Given the description of an element on the screen output the (x, y) to click on. 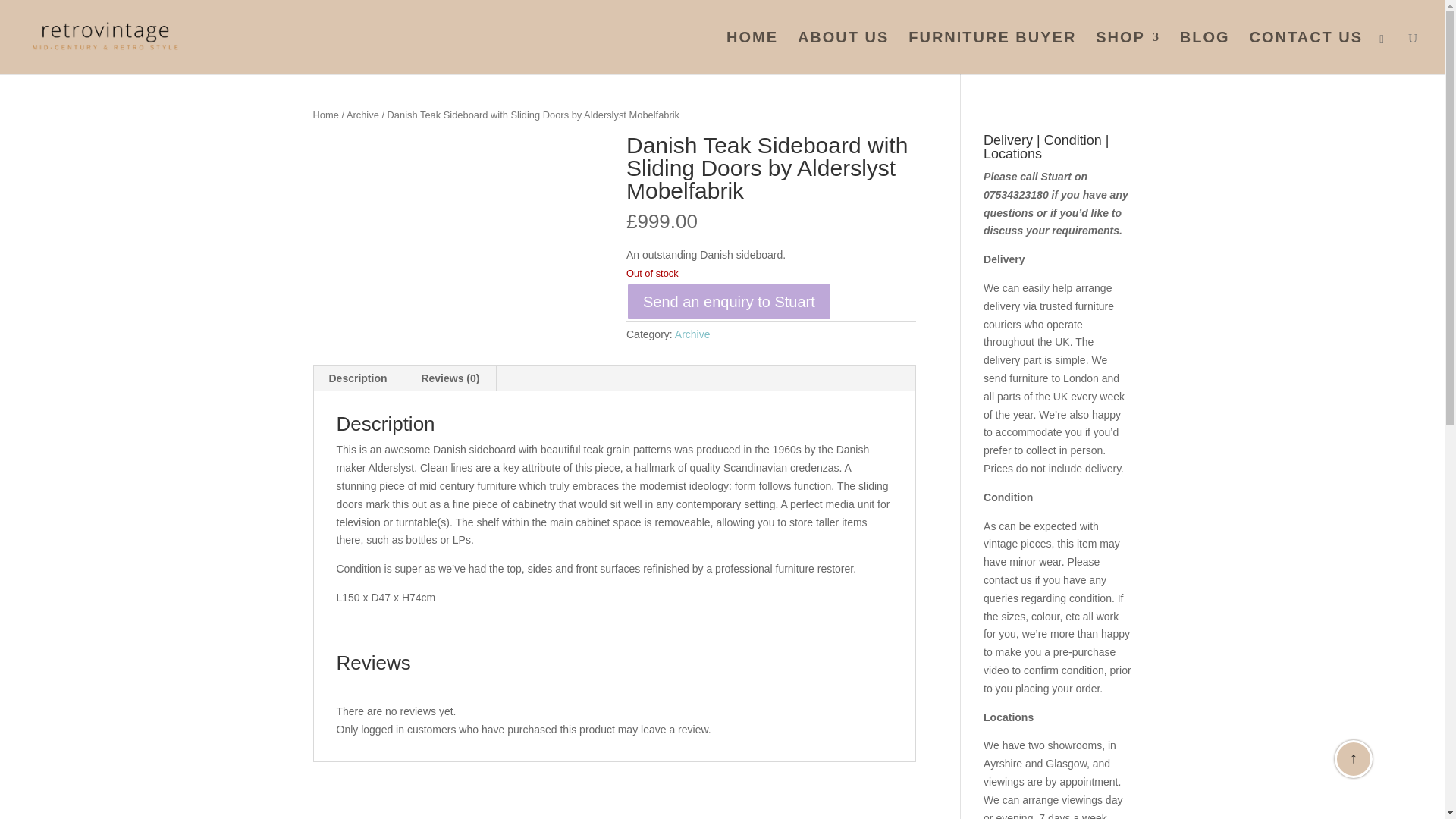
HOME (751, 52)
ABOUT US (842, 52)
FURNITURE BUYER (991, 52)
Archive (692, 334)
CONTACT US (1305, 52)
Send an enquiry to Stuart (728, 301)
Home (325, 114)
BLOG (1204, 52)
Description (358, 378)
SHOP (1128, 52)
